Given the description of an element on the screen output the (x, y) to click on. 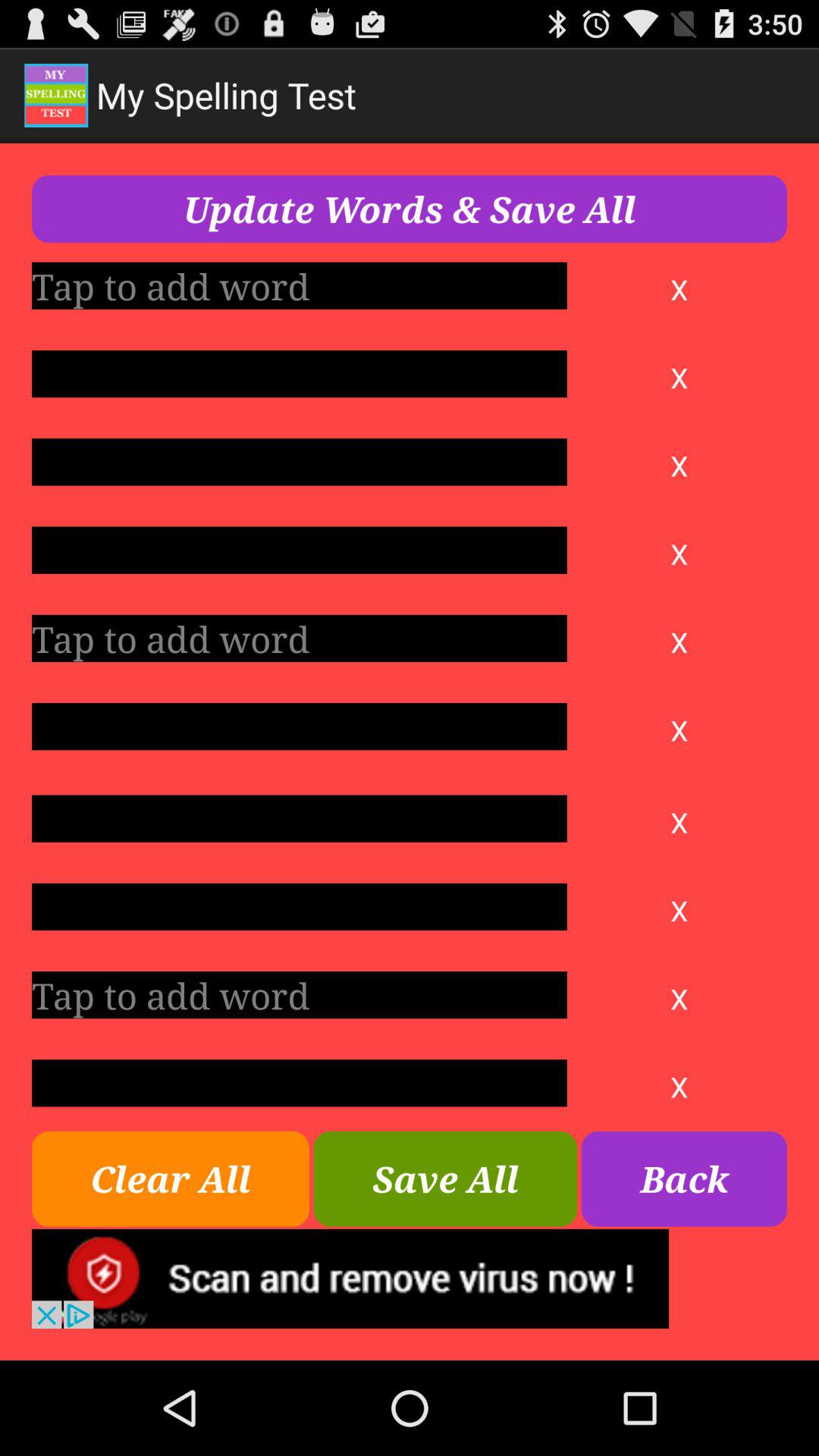
go to search box (299, 818)
